Given the description of an element on the screen output the (x, y) to click on. 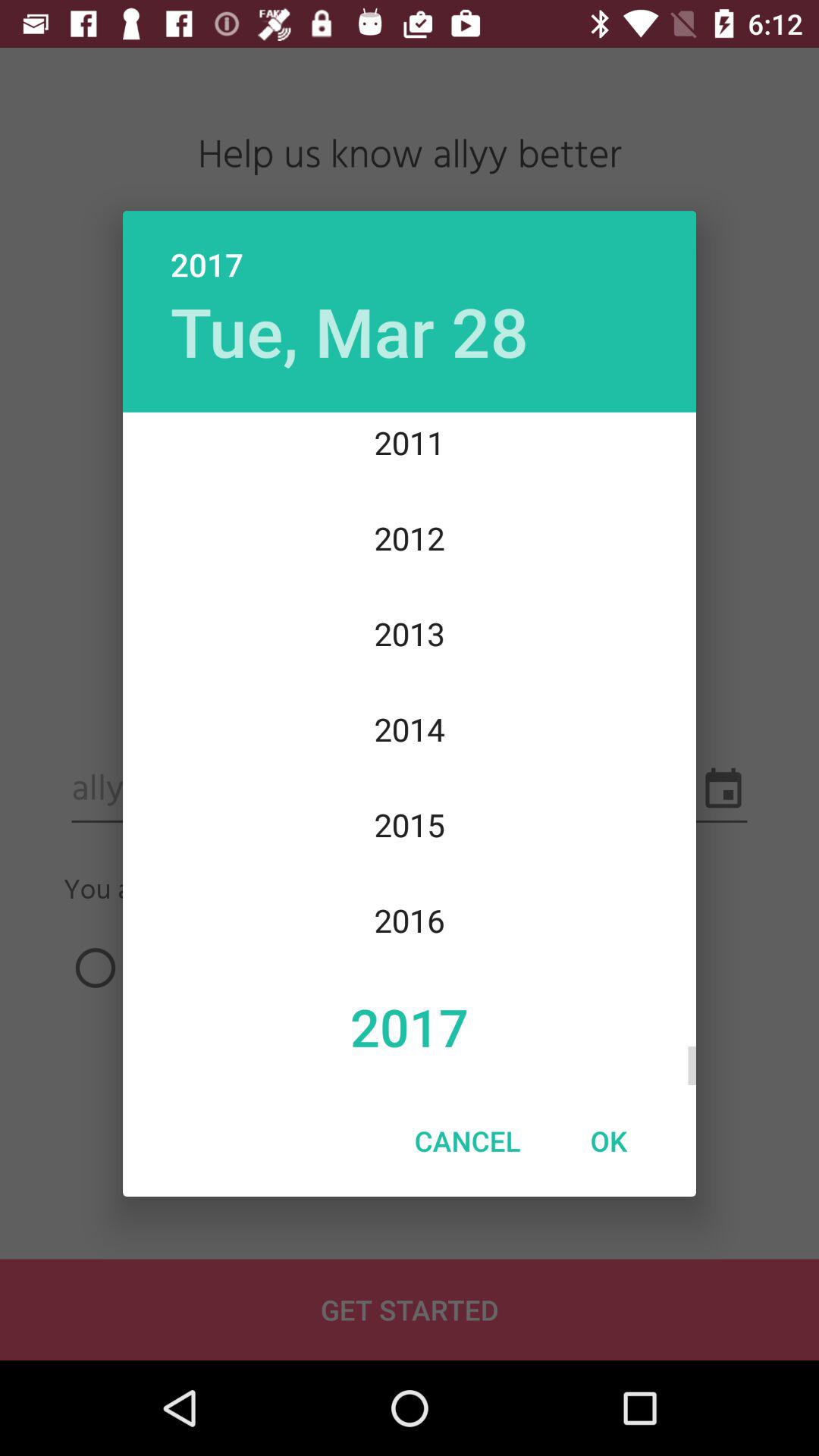
choose the item next to the cancel (608, 1140)
